Given the description of an element on the screen output the (x, y) to click on. 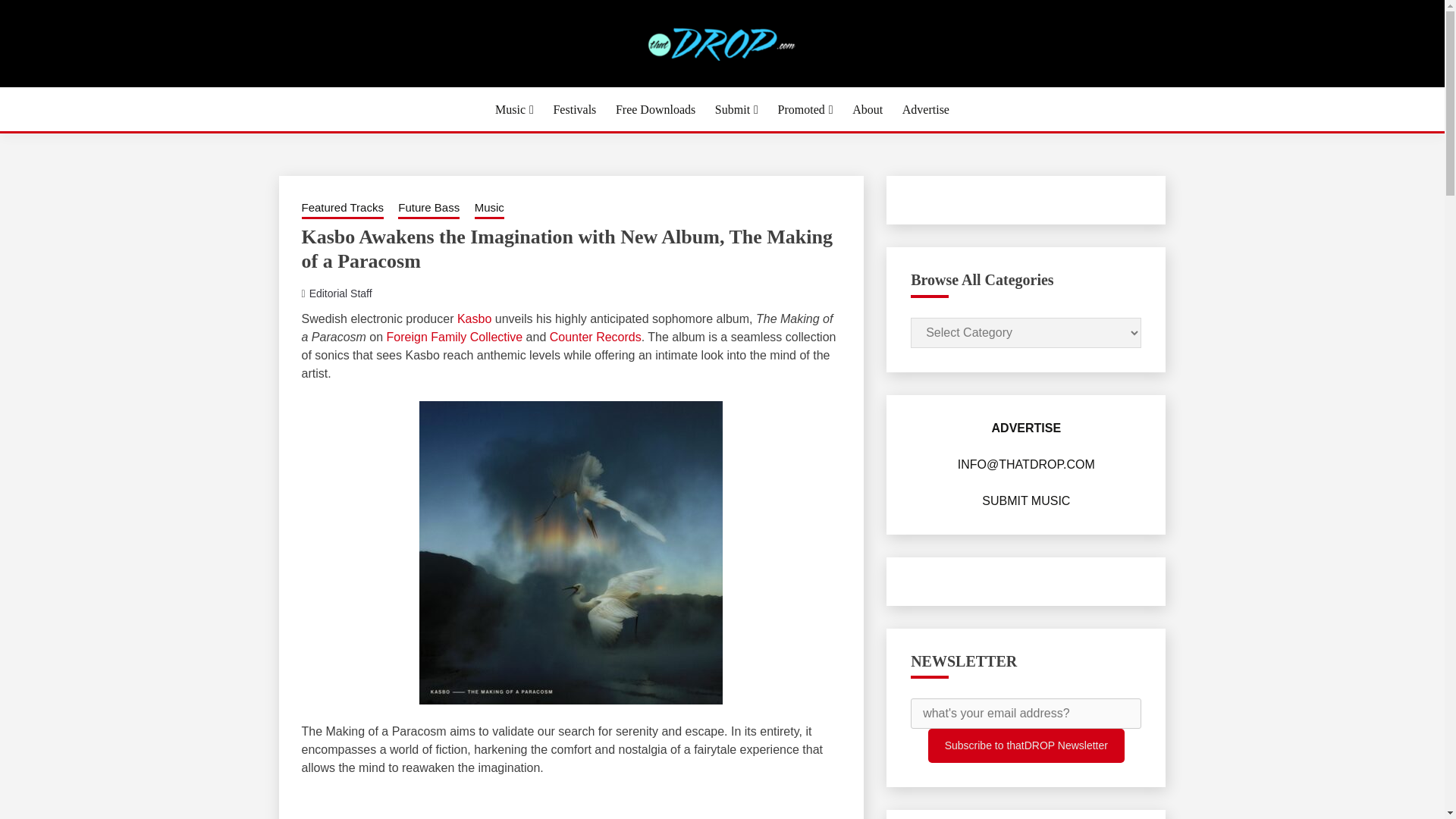
Kasbo (474, 318)
Future Bass (428, 209)
About (866, 109)
Counter Records (596, 336)
Free Downloads (655, 109)
Submit (736, 109)
Advertise (925, 109)
Subscribe to thatDROP Newsletter (1026, 745)
Music (488, 209)
Music (514, 109)
